Given the description of an element on the screen output the (x, y) to click on. 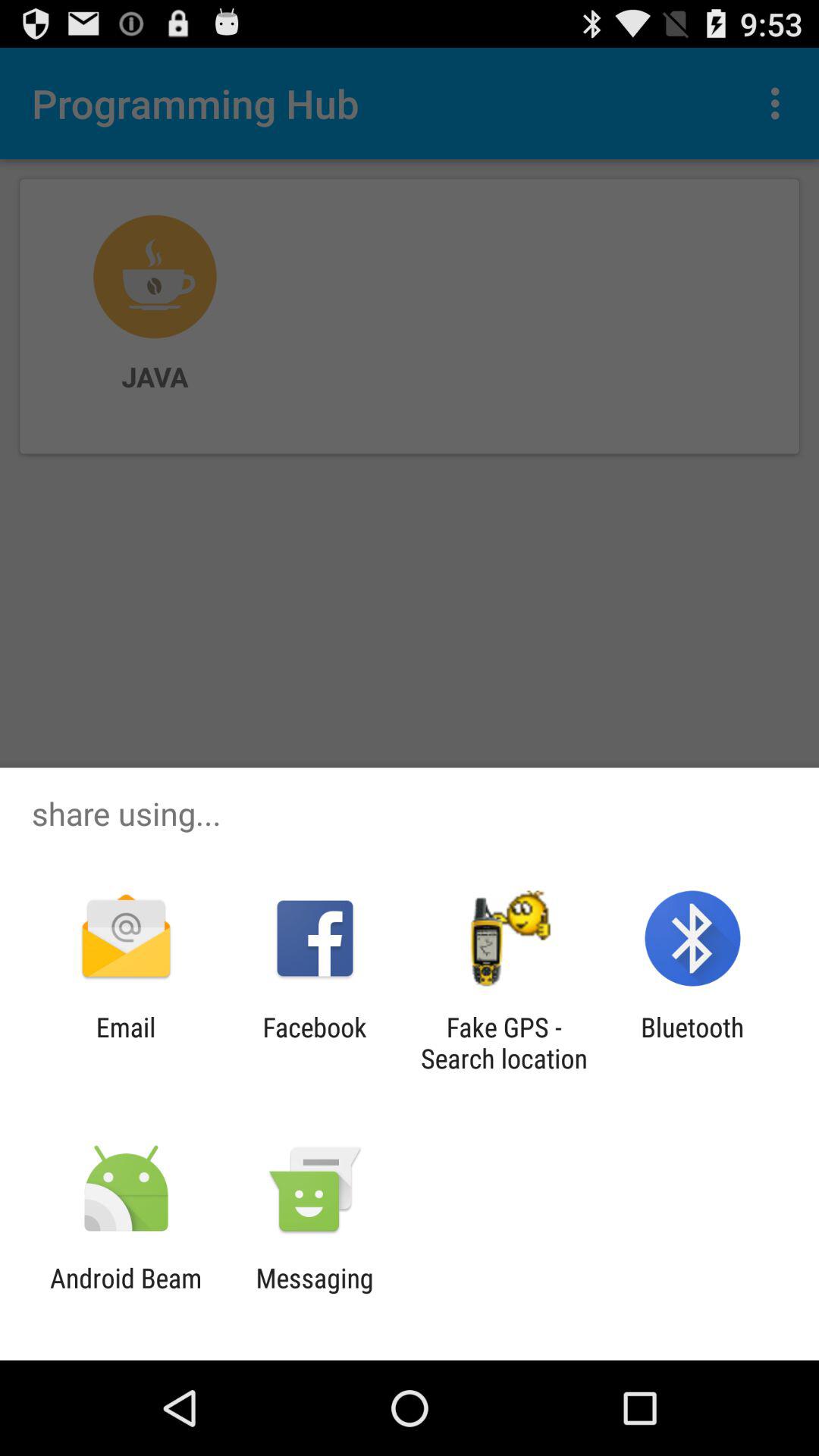
click the icon next to the bluetooth app (503, 1042)
